Given the description of an element on the screen output the (x, y) to click on. 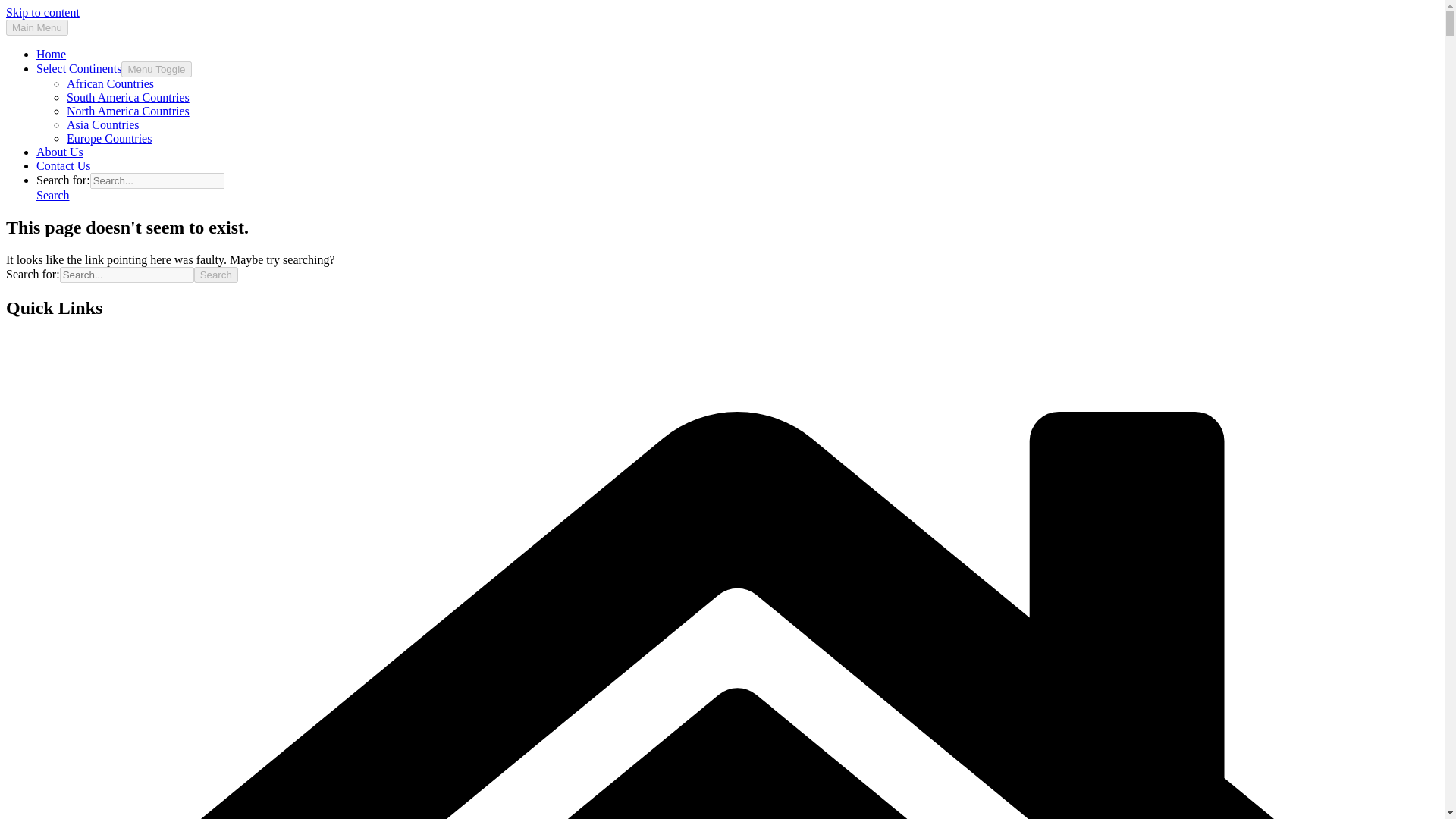
South America Countries (127, 97)
Search (215, 274)
Search (52, 195)
Menu Toggle (155, 68)
Search (215, 274)
Main Menu (36, 27)
Skip to content (42, 11)
North America Countries (127, 110)
Search (215, 274)
Contact Us (63, 164)
